Given the description of an element on the screen output the (x, y) to click on. 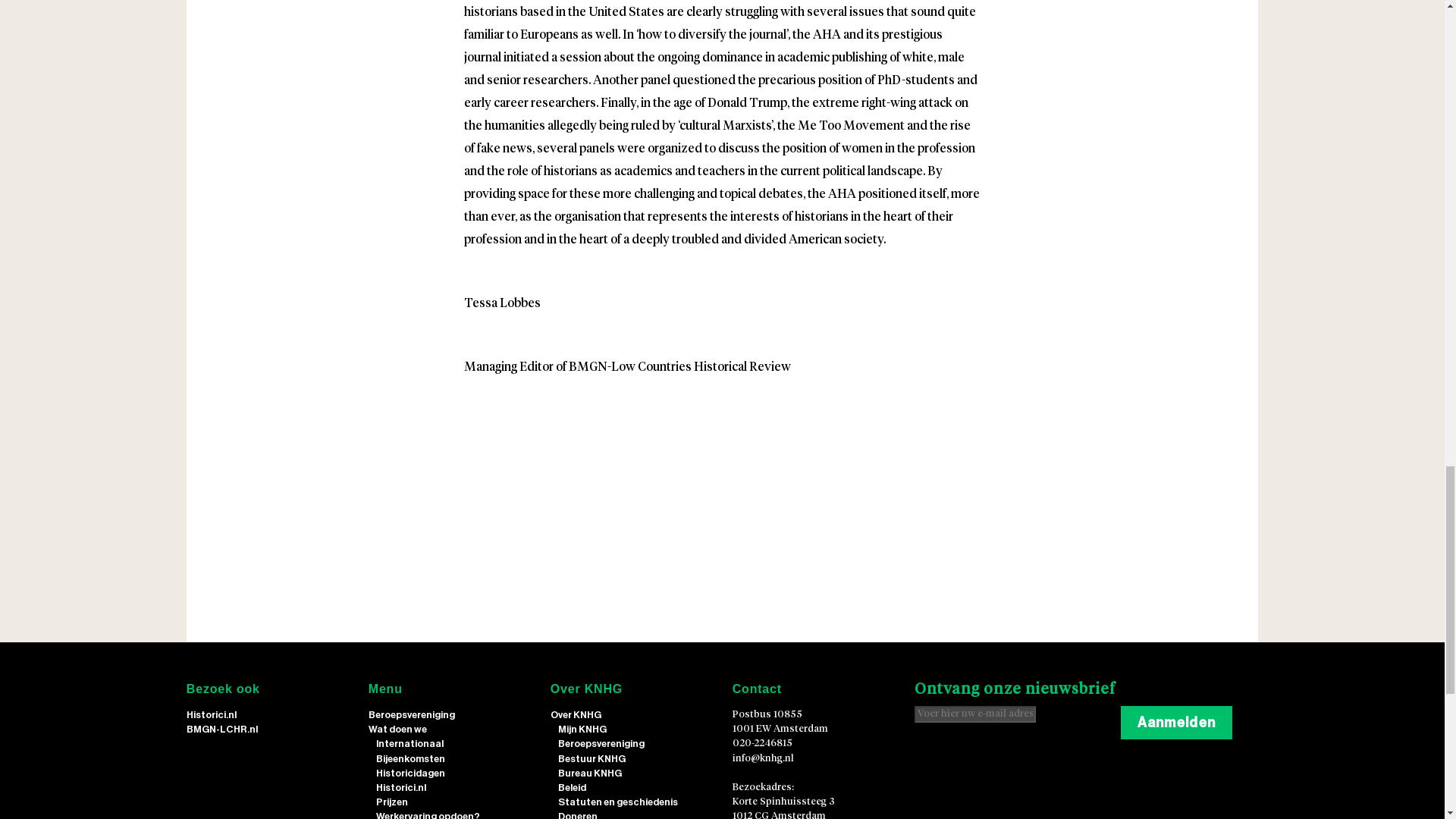
Aanmelden (1176, 722)
